Given the description of an element on the screen output the (x, y) to click on. 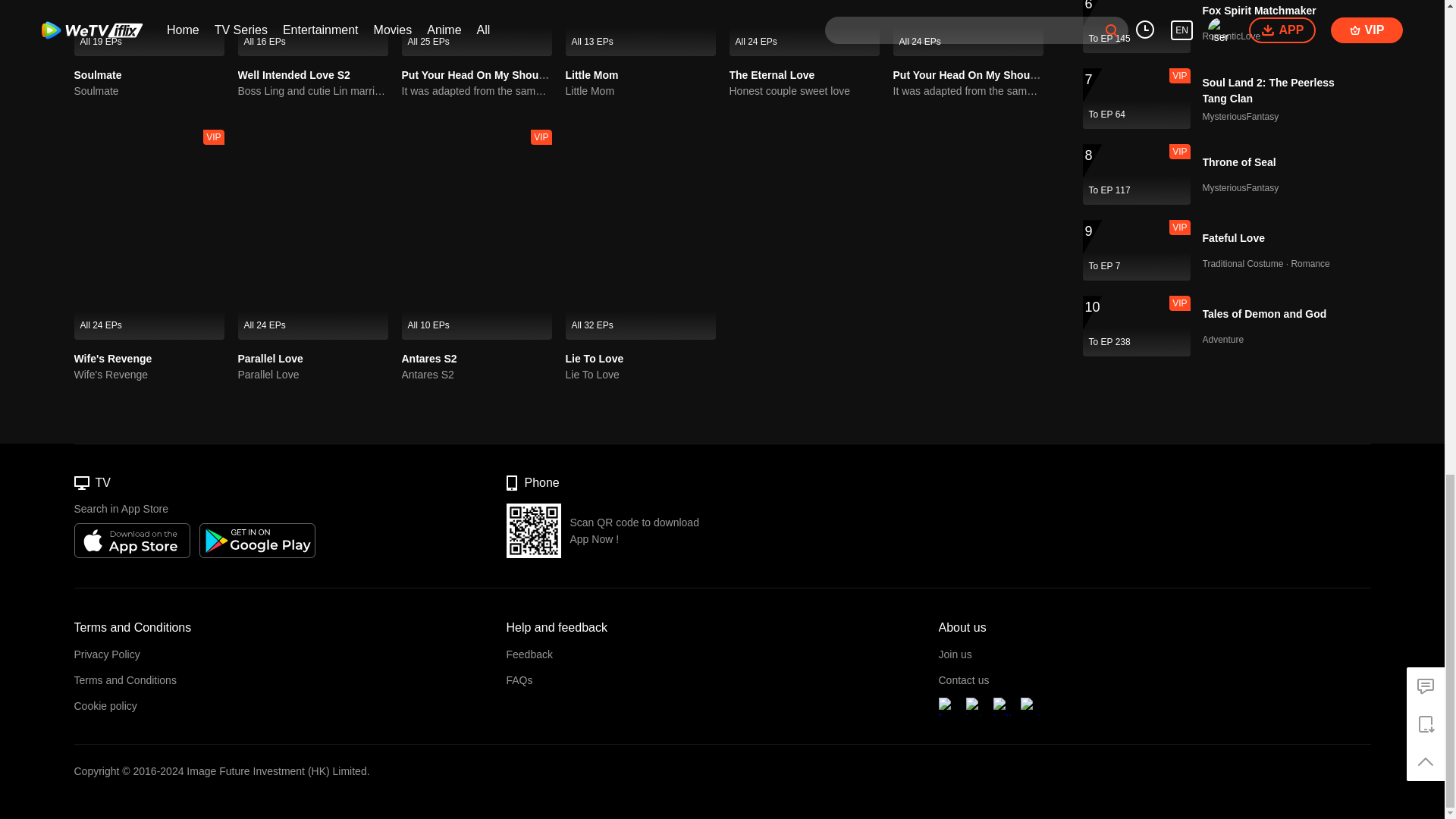
Soulmate (98, 74)
Put Your Head On My Shoulder (479, 74)
Well Intended Love S2 (294, 74)
Soulmate (149, 28)
The Eternal Love (772, 74)
The Eternal Love (804, 28)
Little Mom (592, 74)
Little Mom (641, 91)
